Given the description of an element on the screen output the (x, y) to click on. 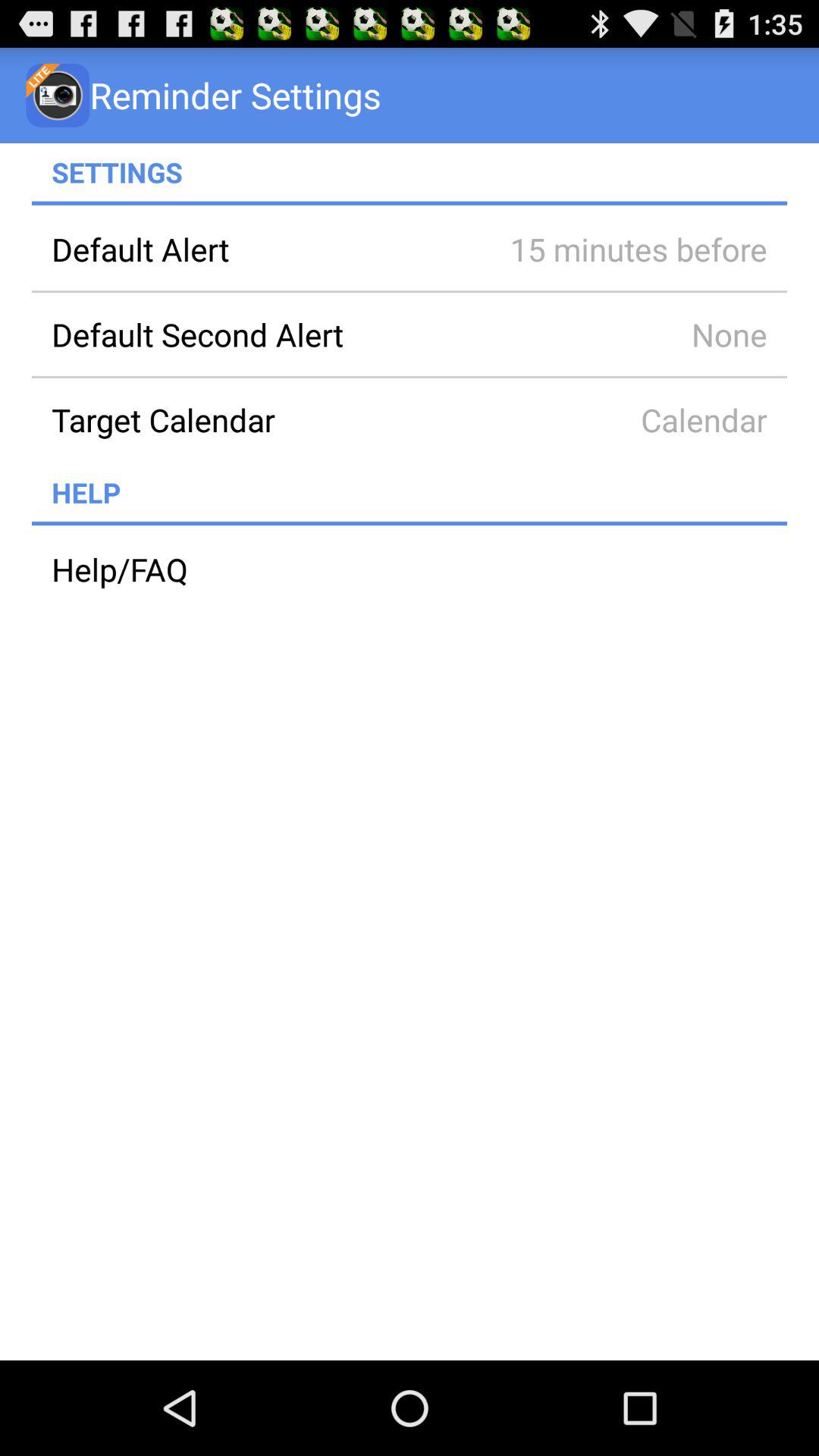
turn on item to the right of the default second alert app (617, 334)
